Given the description of an element on the screen output the (x, y) to click on. 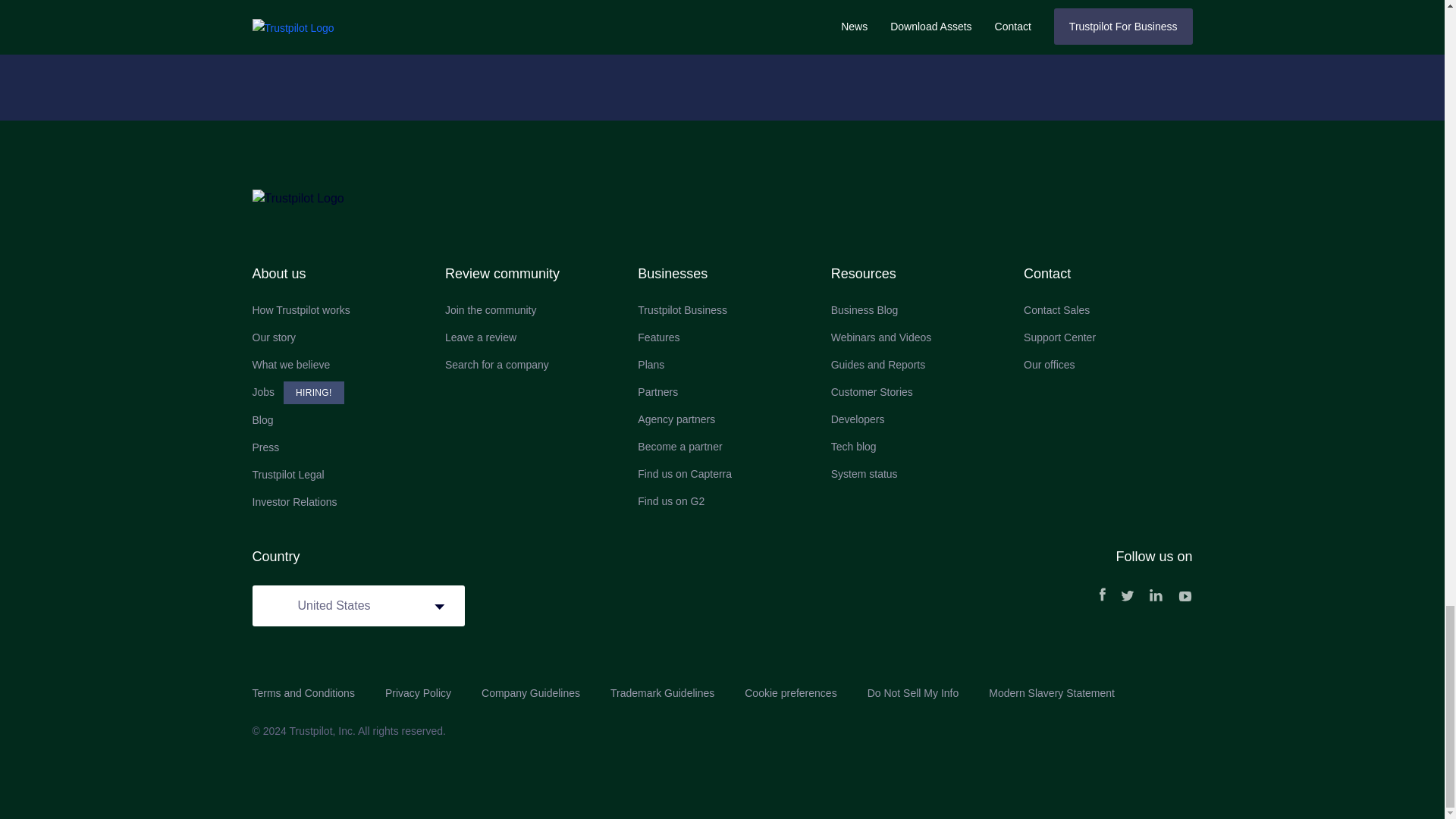
Support Center (1107, 337)
Developers (914, 419)
Join the community (528, 310)
Leave a review (528, 337)
Become a partner (721, 446)
JobsHIRING! (335, 392)
Find us on Capterra (721, 474)
Trustpilot Business (721, 310)
Investor Relations (335, 502)
Agency partners (721, 419)
